Given the description of an element on the screen output the (x, y) to click on. 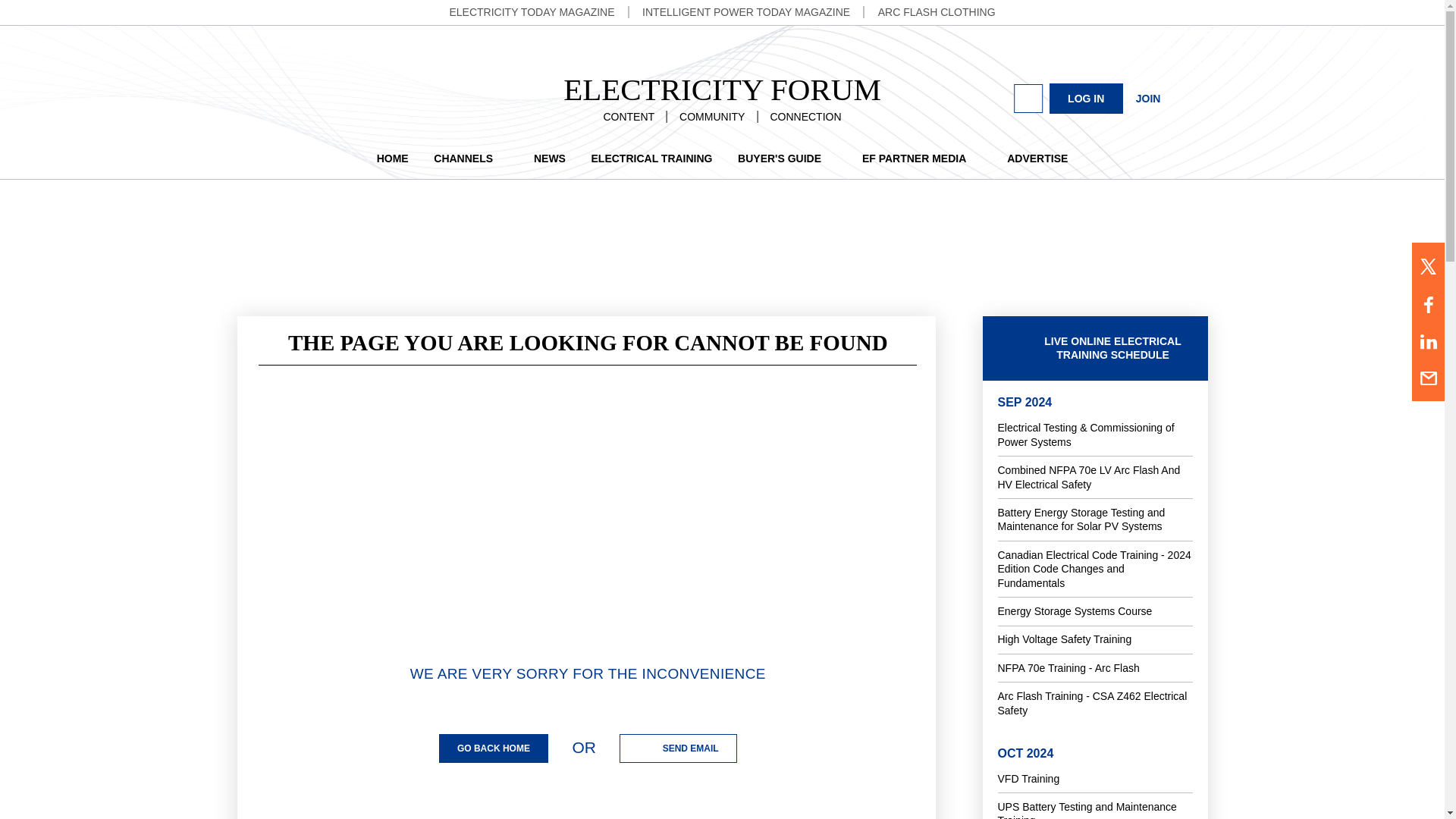
JOIN (1147, 98)
ARC FLASH CLOTHING (936, 11)
NEWS (550, 158)
ELECTRICAL TRAINING (652, 158)
BUYER'S GUIDE (786, 158)
LOG IN (1085, 98)
HOME (393, 158)
EF PARTNER MEDIA (921, 158)
ELECTRICITY TODAY MAGAZINE (531, 11)
INTELLIGENT POWER TODAY MAGAZINE (746, 11)
